Given the description of an element on the screen output the (x, y) to click on. 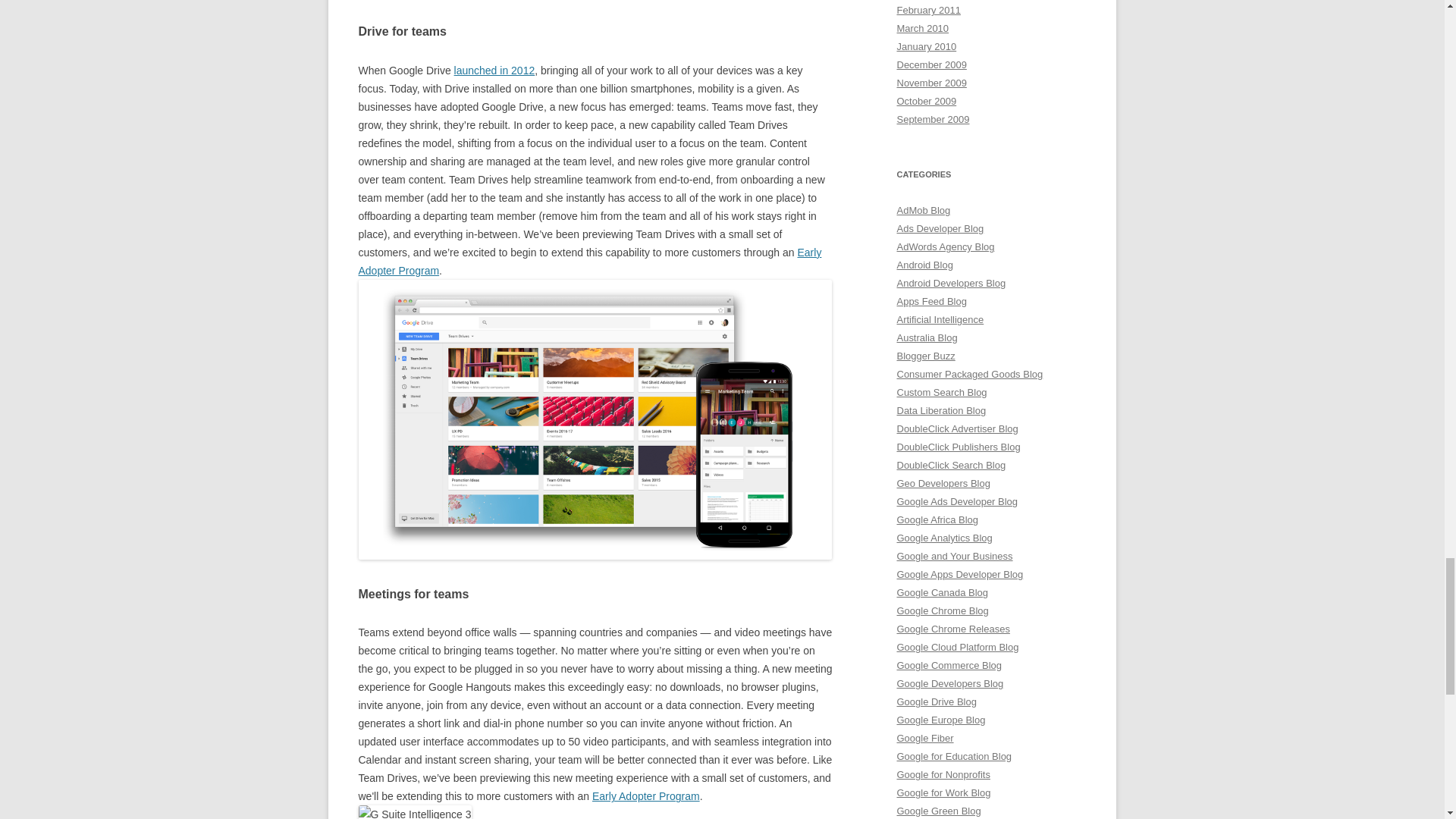
Early Adopter Program (589, 261)
launched in 2012 (494, 70)
Early Adopter Program (646, 796)
